Given the description of an element on the screen output the (x, y) to click on. 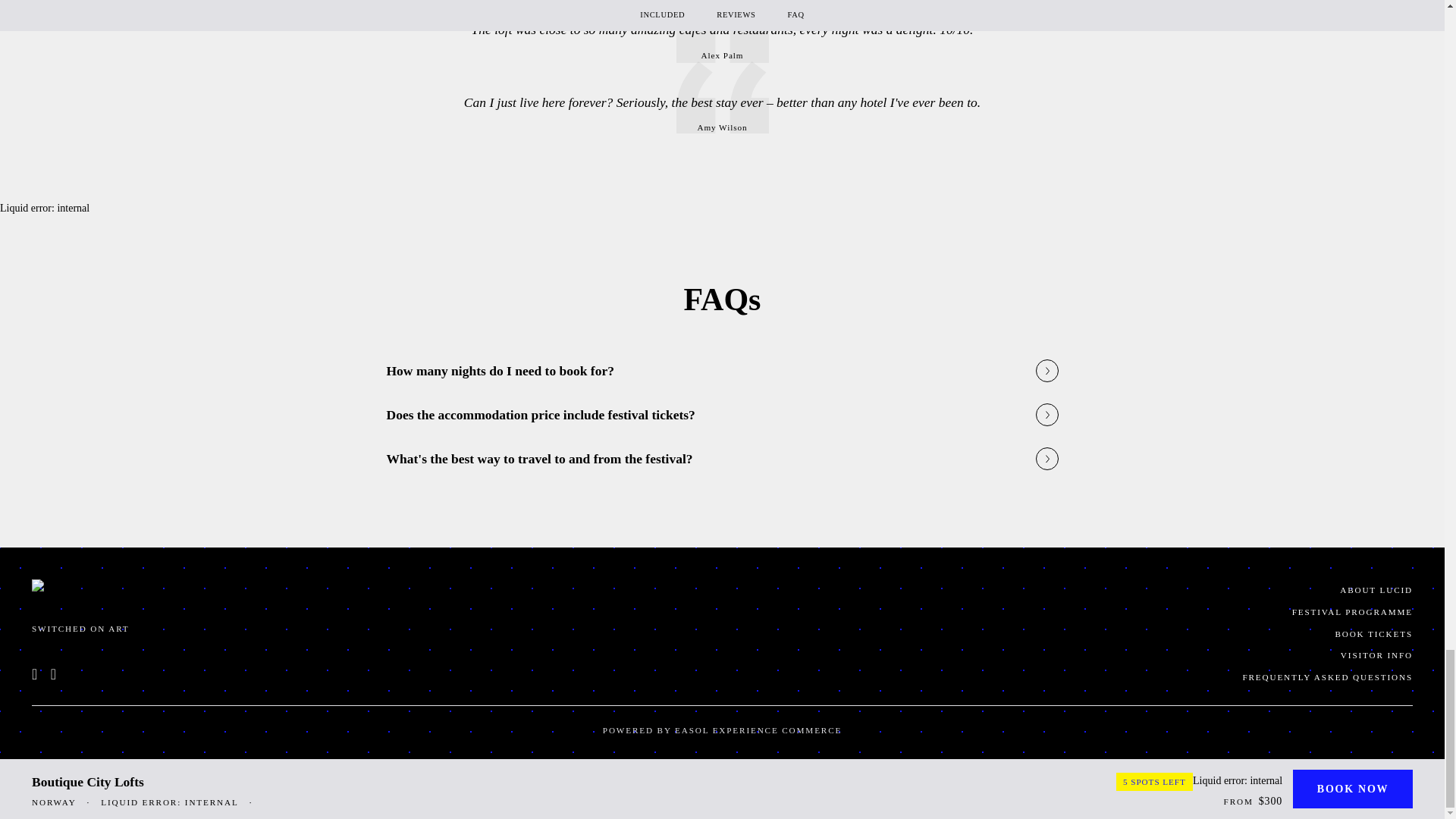
VISITOR INFO (1073, 655)
FREQUENTLY ASKED QUESTIONS (1073, 677)
FESTIVAL PROGRAMME (1073, 612)
ABOUT LUCID (1073, 590)
BOOK TICKETS (1073, 634)
